Given the description of an element on the screen output the (x, y) to click on. 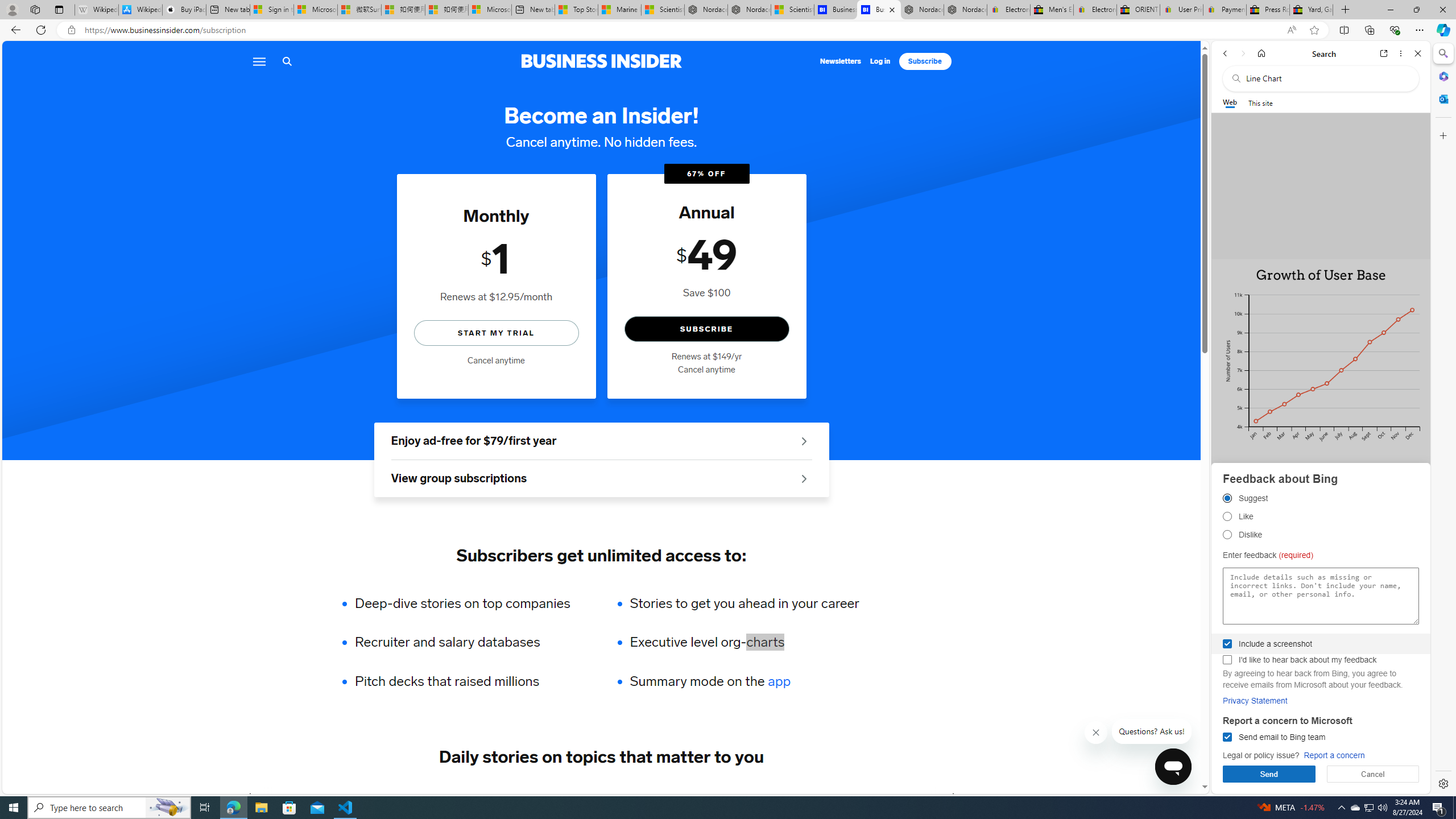
Cancel anytime (706, 369)
Report a concern (1334, 755)
Enjoy ad-free for $79/first year (601, 441)
SUBSCRIBE (706, 329)
See group offers (803, 478)
Minimize Search pane (1442, 53)
Search icon (286, 61)
